Given the description of an element on the screen output the (x, y) to click on. 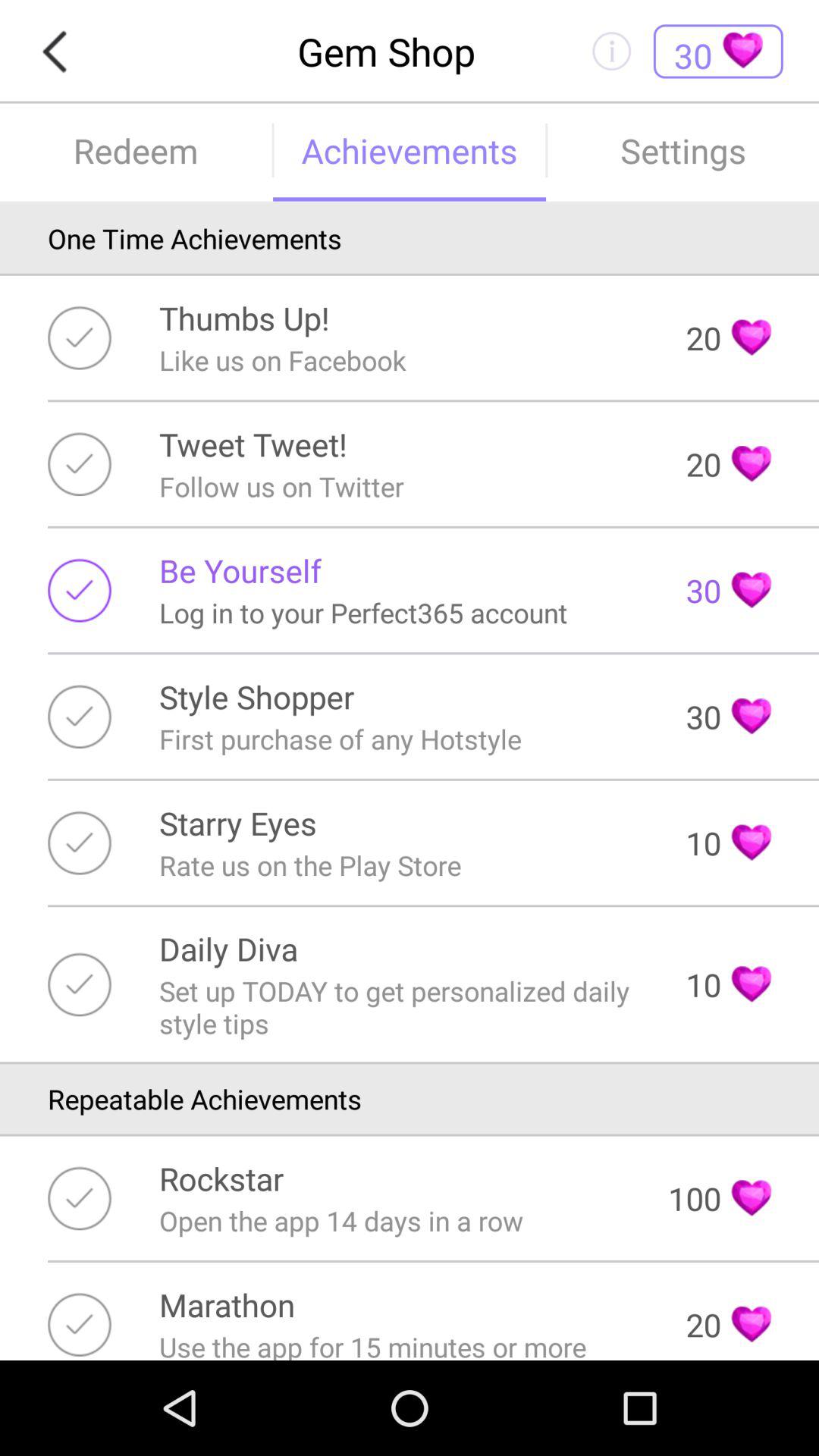
scroll until the log in to (363, 612)
